Given the description of an element on the screen output the (x, y) to click on. 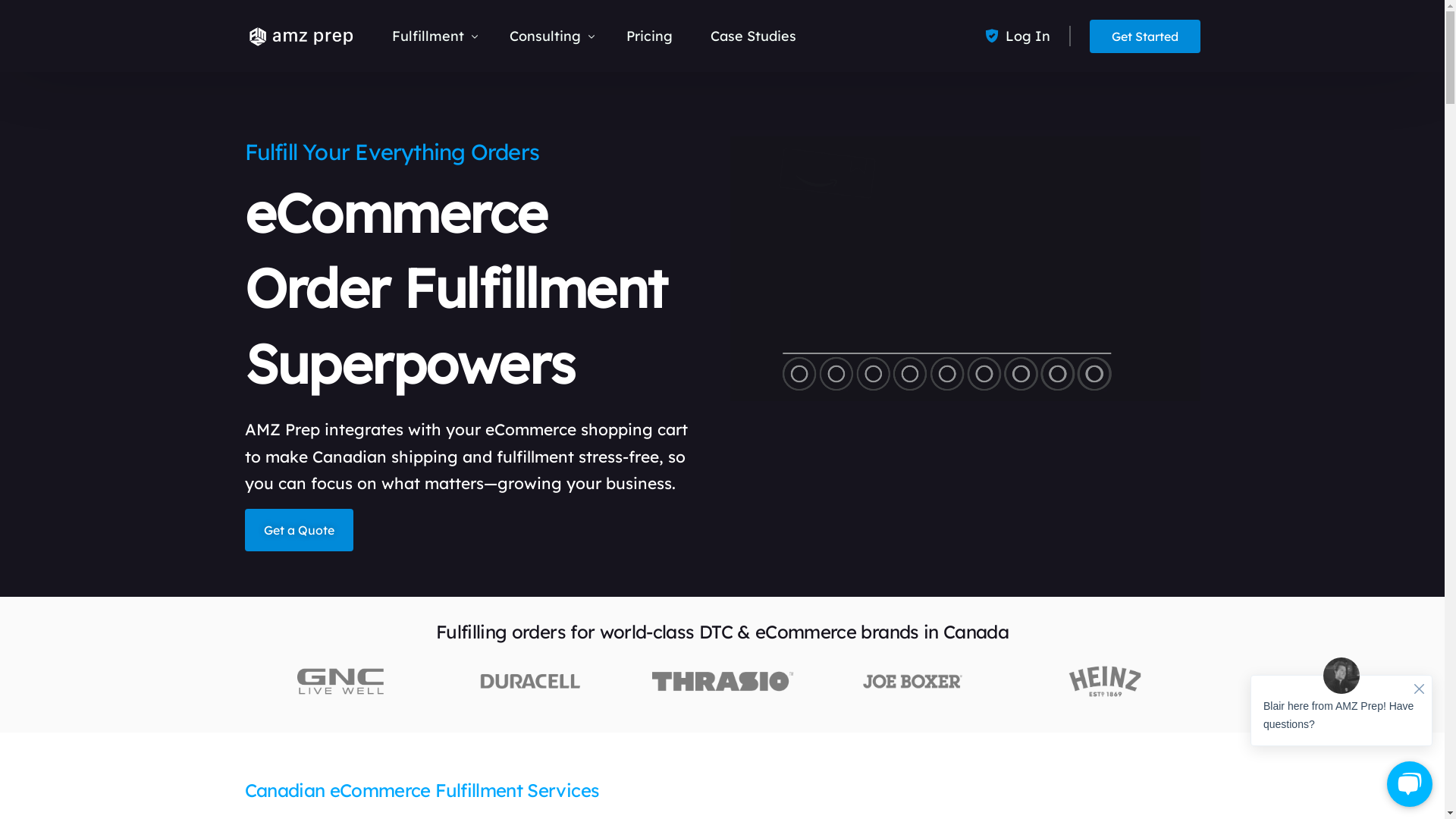
Pricing Element type: text (649, 36)
Get a Quote Element type: text (298, 529)
Consulting Element type: text (548, 36)
Case Studies Element type: text (753, 36)
Get Started Element type: text (1144, 36)
Fulfillment Element type: text (431, 36)
Log In Element type: text (1027, 36)
